Given the description of an element on the screen output the (x, y) to click on. 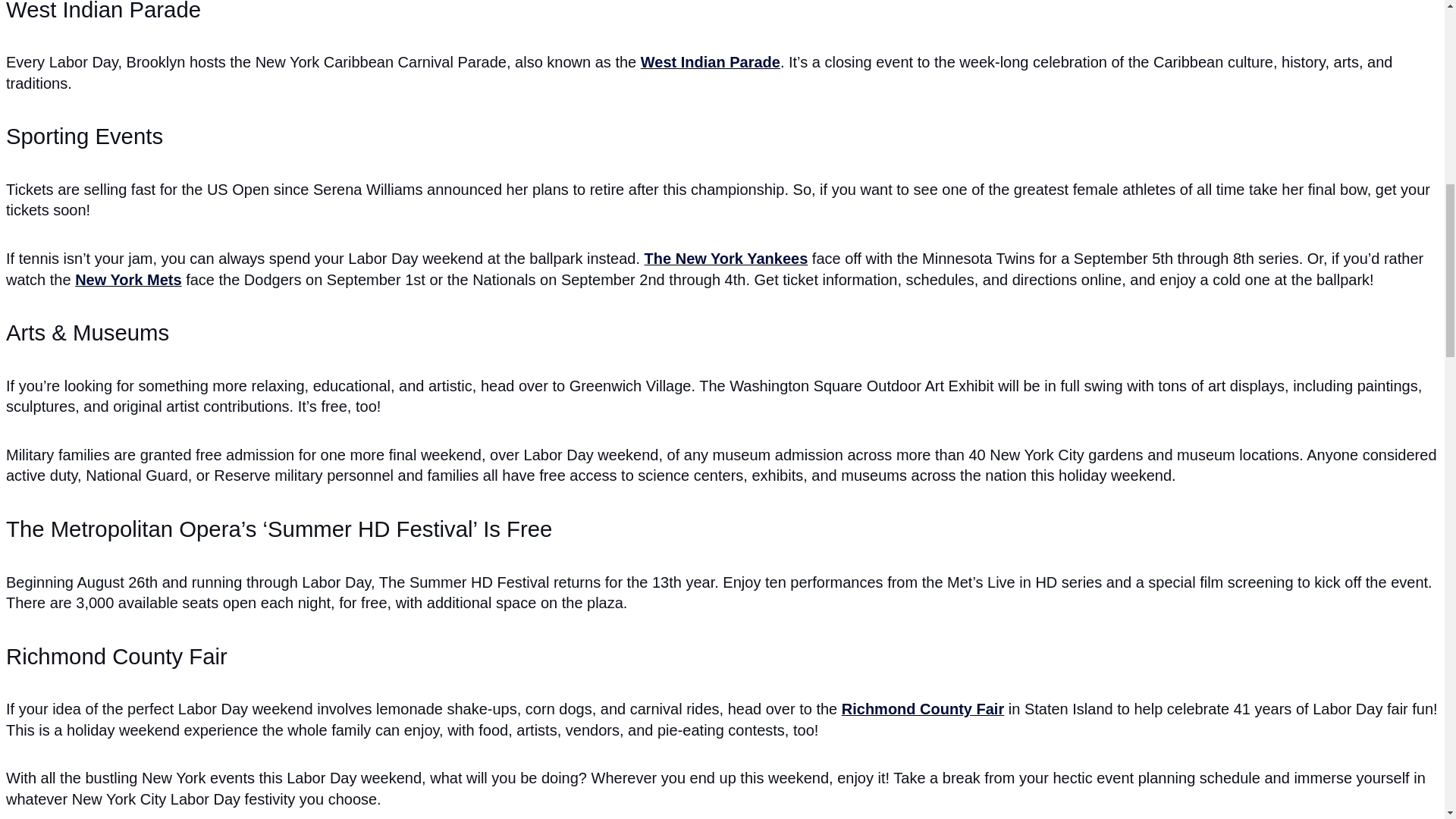
West Indian Parade (710, 62)
New York Mets (127, 280)
Richmond County Fair (922, 709)
The New York Yankees (726, 259)
